Given the description of an element on the screen output the (x, y) to click on. 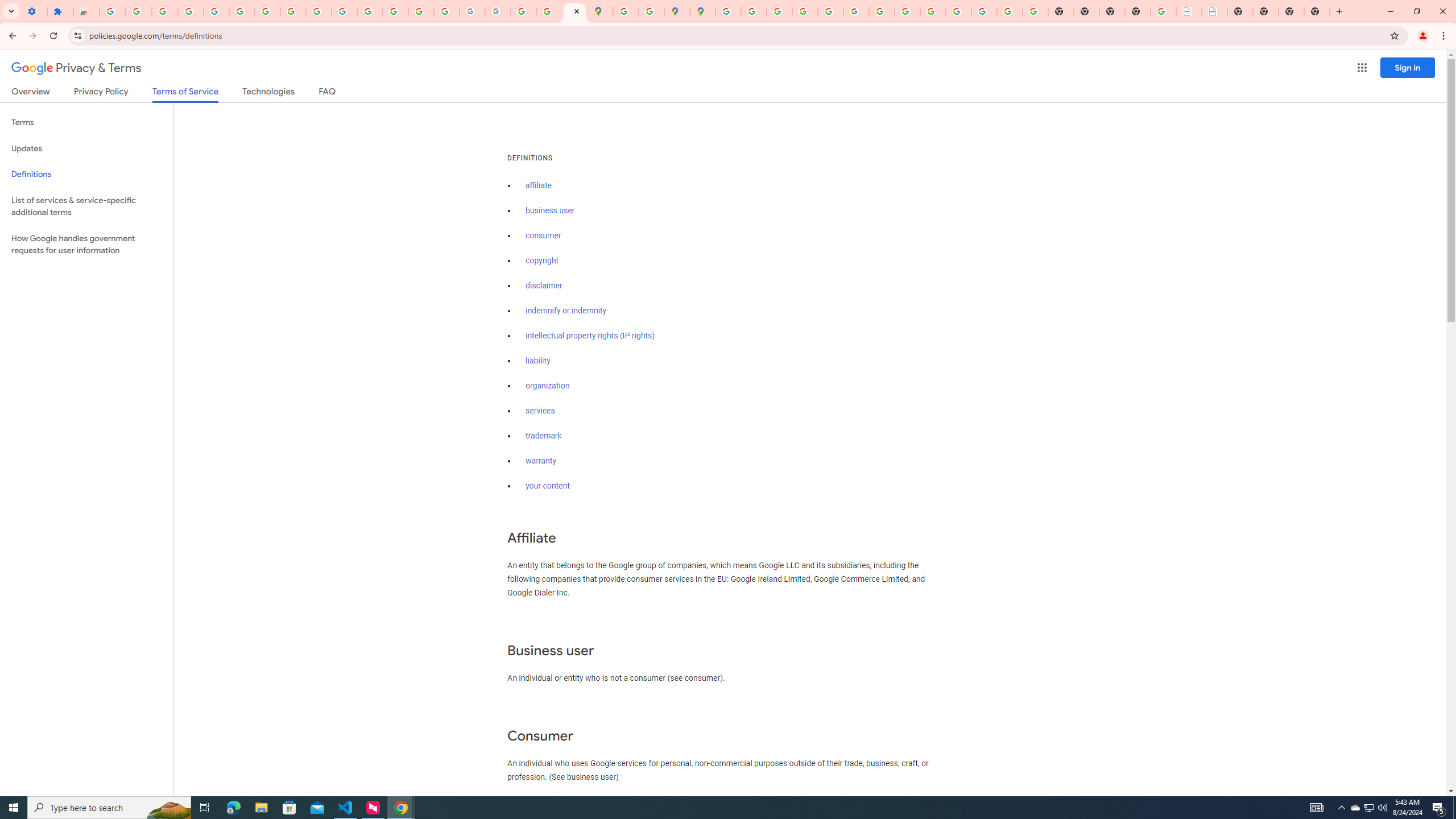
services (539, 411)
organization (547, 385)
copyright (542, 260)
New Tab (1137, 11)
YouTube (881, 11)
